Given the description of an element on the screen output the (x, y) to click on. 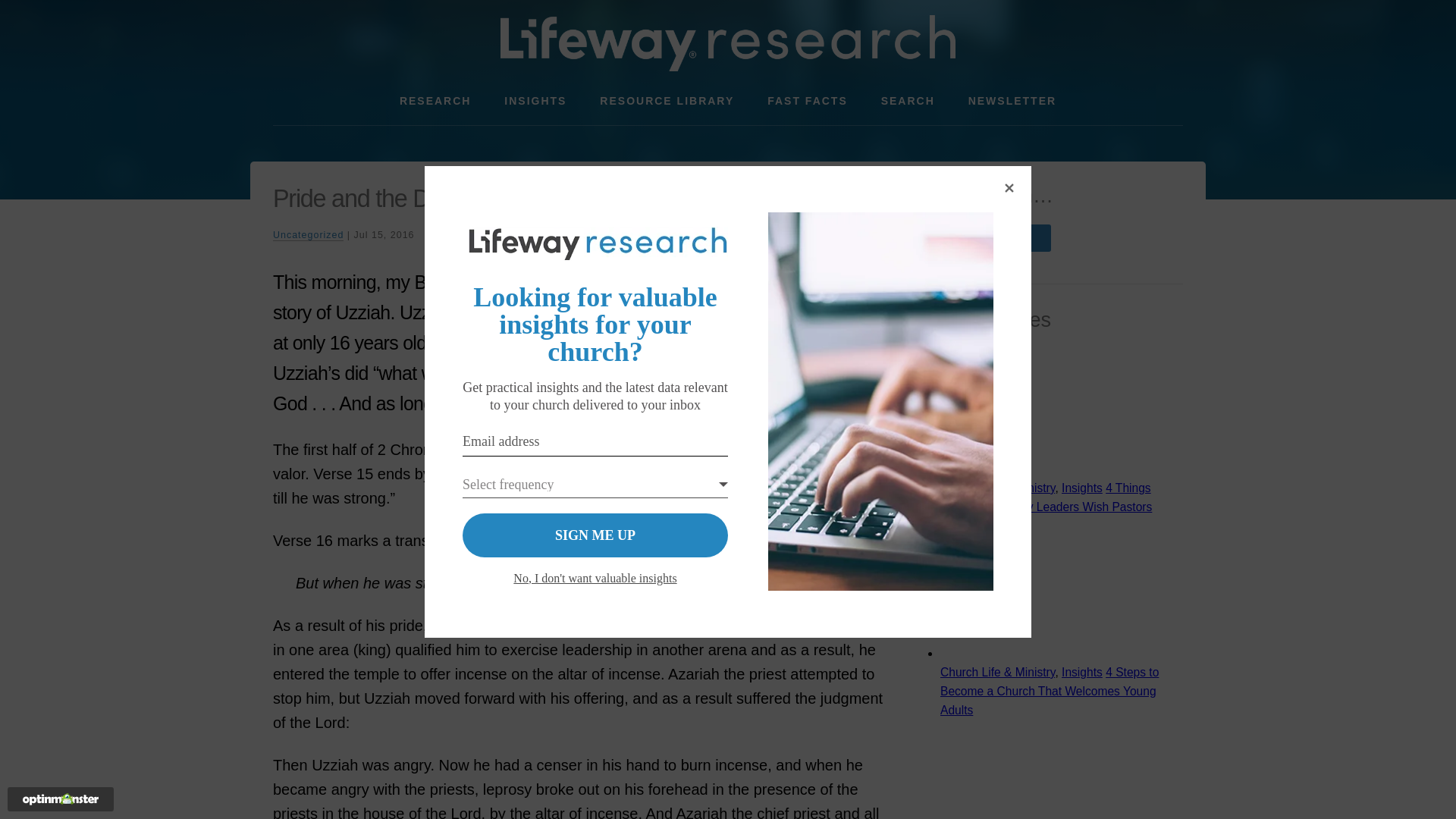
FAST FACTS (807, 100)
RESEARCH (435, 100)
NEWSLETTER (1012, 100)
Uncategorized (308, 235)
SEARCH (908, 100)
Close (1009, 188)
SIGN ME UP (595, 534)
No, I don't want valuable insights (594, 577)
No, I don't want valuable insights (594, 577)
RESOURCE LIBRARY (667, 100)
SIGN ME UP (595, 534)
Powered by OptinMonster (61, 799)
INSIGHTS (534, 100)
